Given the description of an element on the screen output the (x, y) to click on. 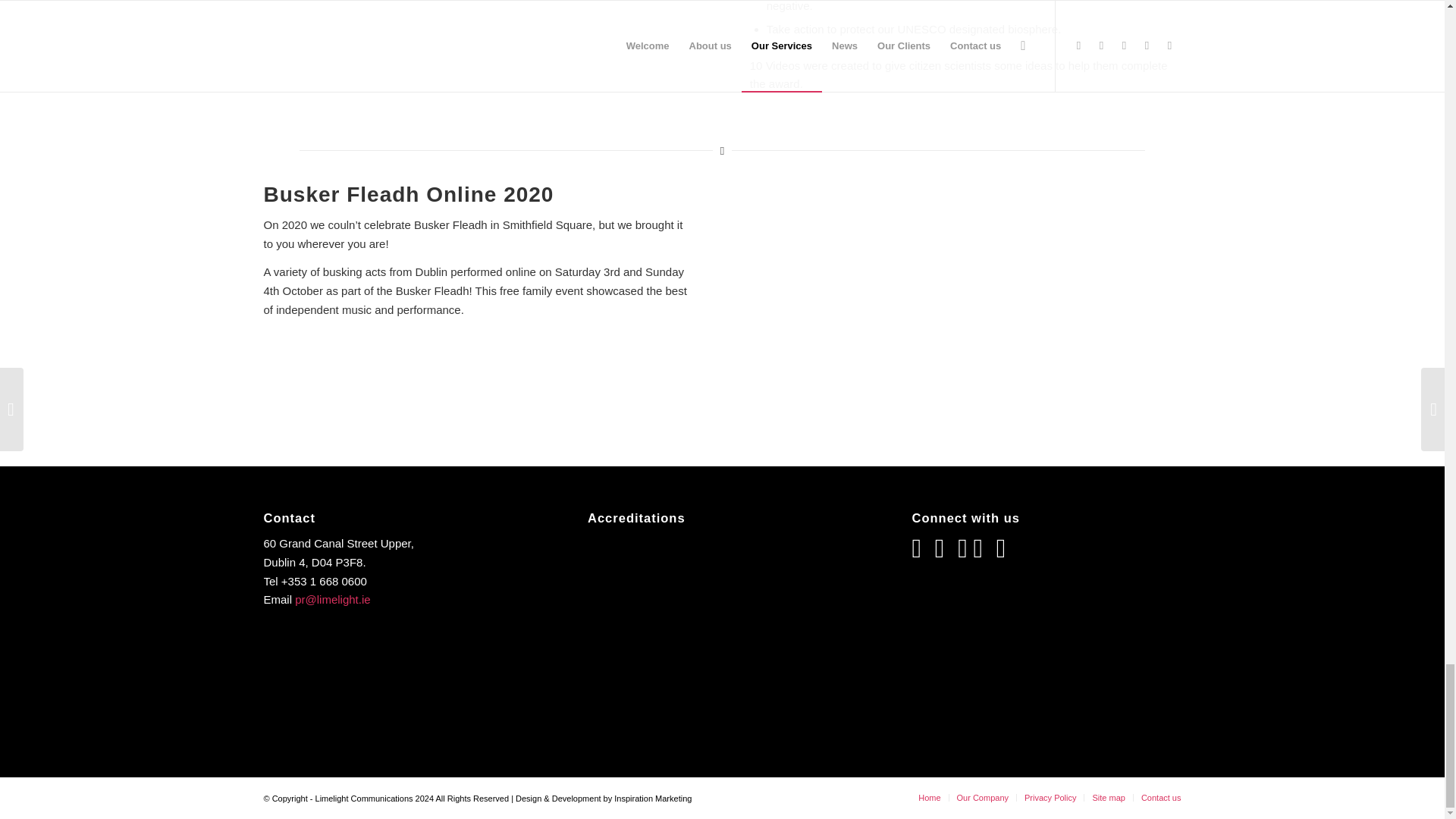
Home (929, 797)
Site map (1108, 797)
Privacy Policy (1050, 797)
Our Company (982, 797)
Contact us (1160, 797)
